Given the description of an element on the screen output the (x, y) to click on. 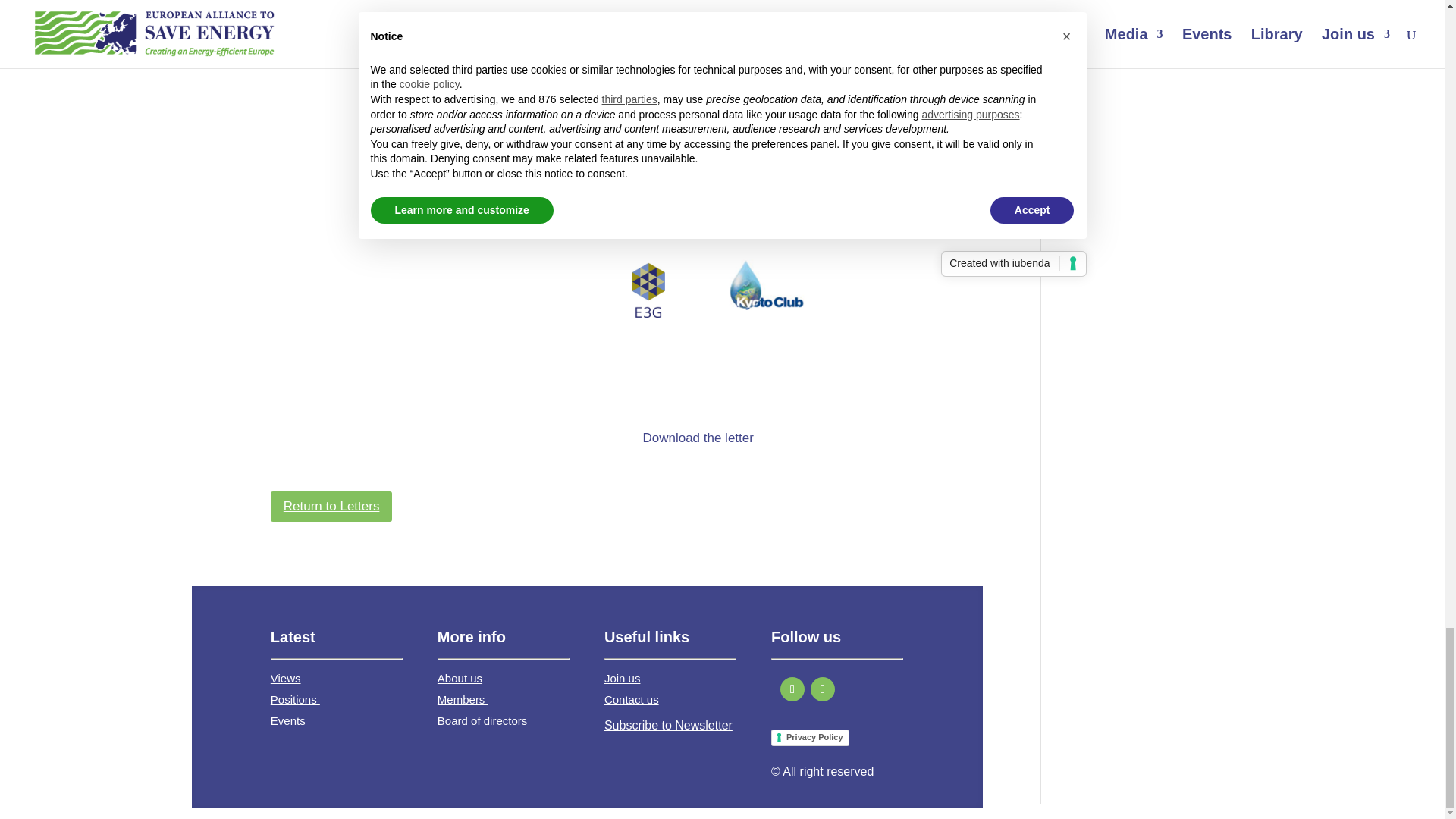
Follow on LinkedIn (822, 688)
Privacy Policy  (809, 737)
Follow on Twitter (792, 688)
